Given the description of an element on the screen output the (x, y) to click on. 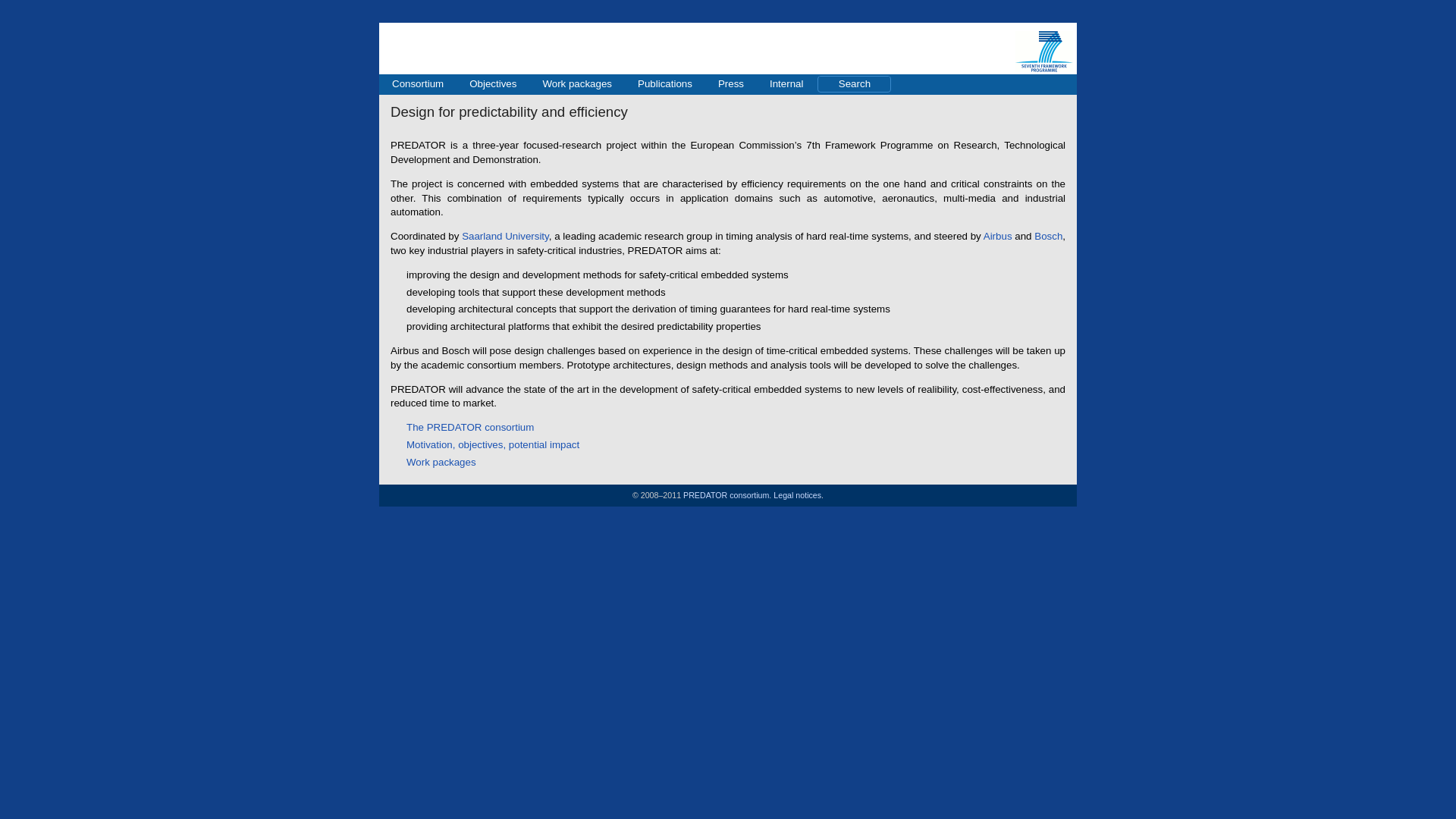
Work packages (441, 461)
Objectives (493, 84)
Airbus (997, 235)
Legal notices (797, 494)
Press (730, 84)
Bosch (1047, 235)
PREDATOR consortium (725, 494)
Saarland University (504, 235)
Consortium (417, 84)
Search (853, 83)
